Given the description of an element on the screen output the (x, y) to click on. 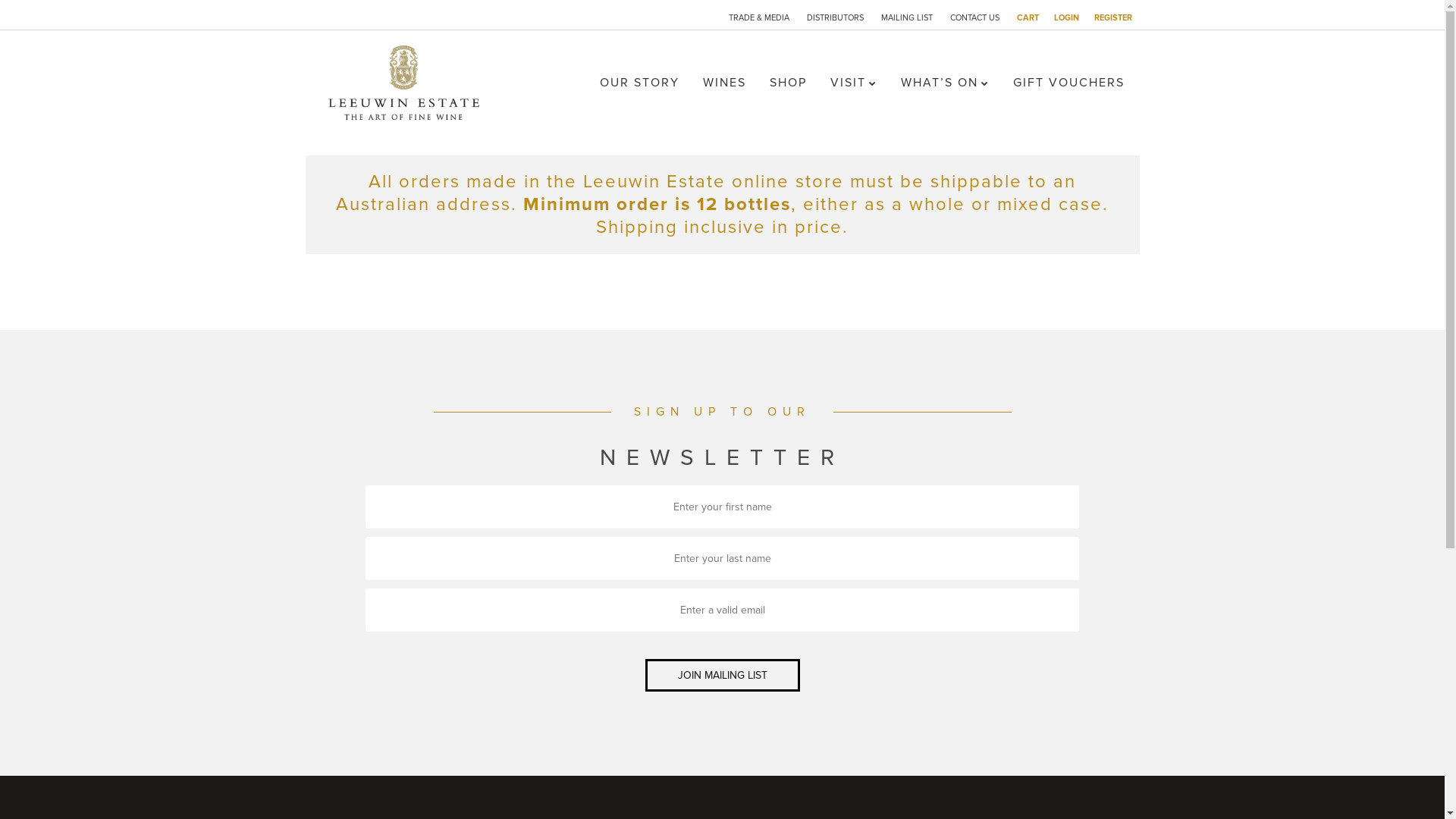
LOGIN Element type: text (1066, 17)
GIFT VOUCHERS Element type: text (1068, 82)
CART Element type: text (1027, 18)
VISIT Element type: text (853, 82)
CONTACT US Element type: text (973, 17)
OUR STORY Element type: text (639, 82)
JOIN MAILING LIST Element type: text (721, 674)
Skip to content Element type: text (634, 81)
DISTRIBUTORS Element type: text (834, 17)
TRADE & MEDIA Element type: text (758, 17)
REGISTER Element type: text (1112, 17)
MAILING LIST Element type: text (906, 17)
SHOP Element type: text (787, 82)
WINES Element type: text (724, 82)
Leeuwin Estate Element type: hover (406, 87)
